Given the description of an element on the screen output the (x, y) to click on. 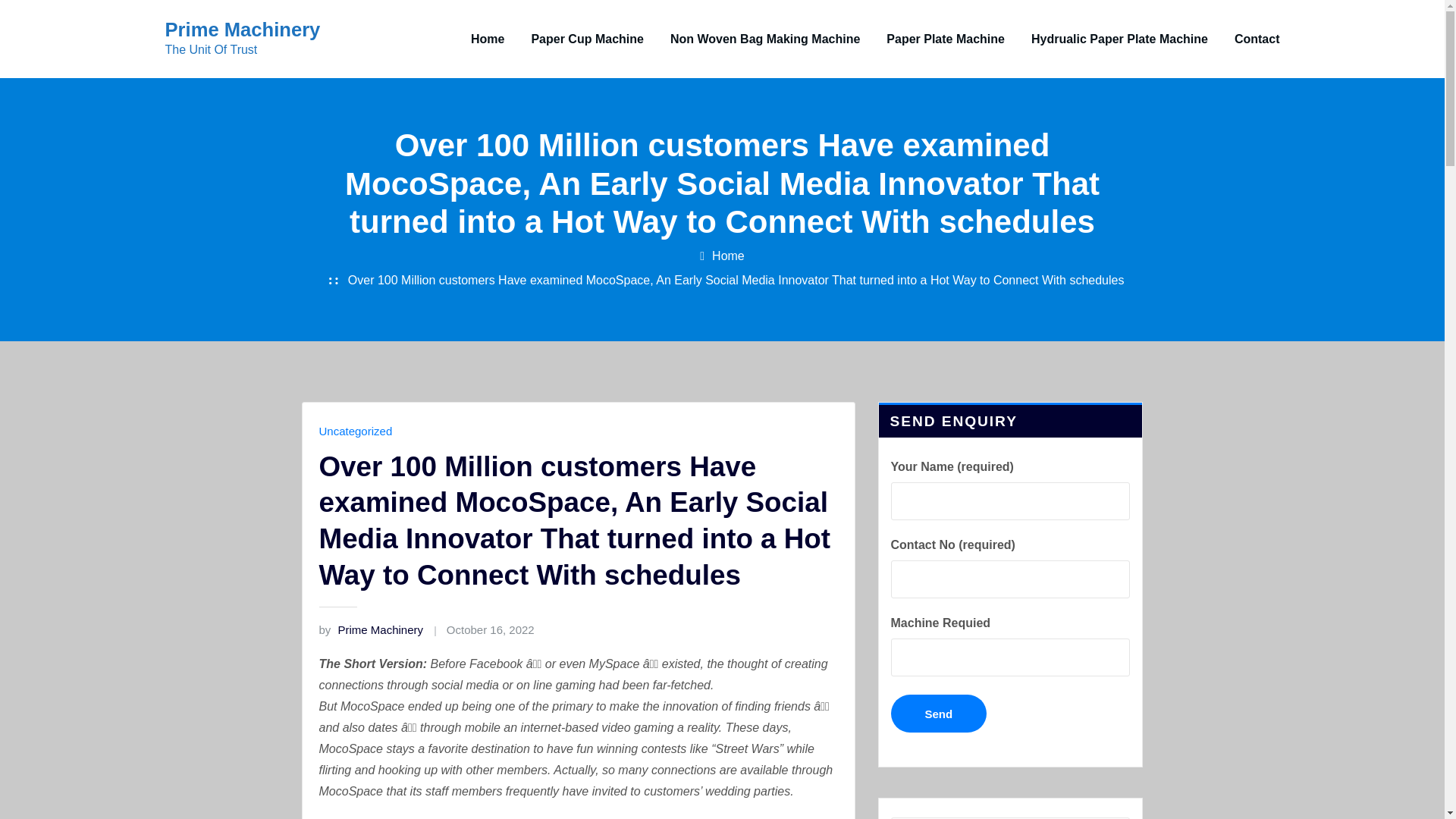
Paper Plate Machine (945, 38)
Send (938, 713)
Prime Machinery (242, 29)
October 16, 2022 (490, 629)
Send (938, 713)
Home (727, 255)
Hydrualic Paper Plate Machine (1119, 38)
Paper Cup Machine (587, 38)
Home (486, 38)
by Prime Machinery (370, 629)
